Given the description of an element on the screen output the (x, y) to click on. 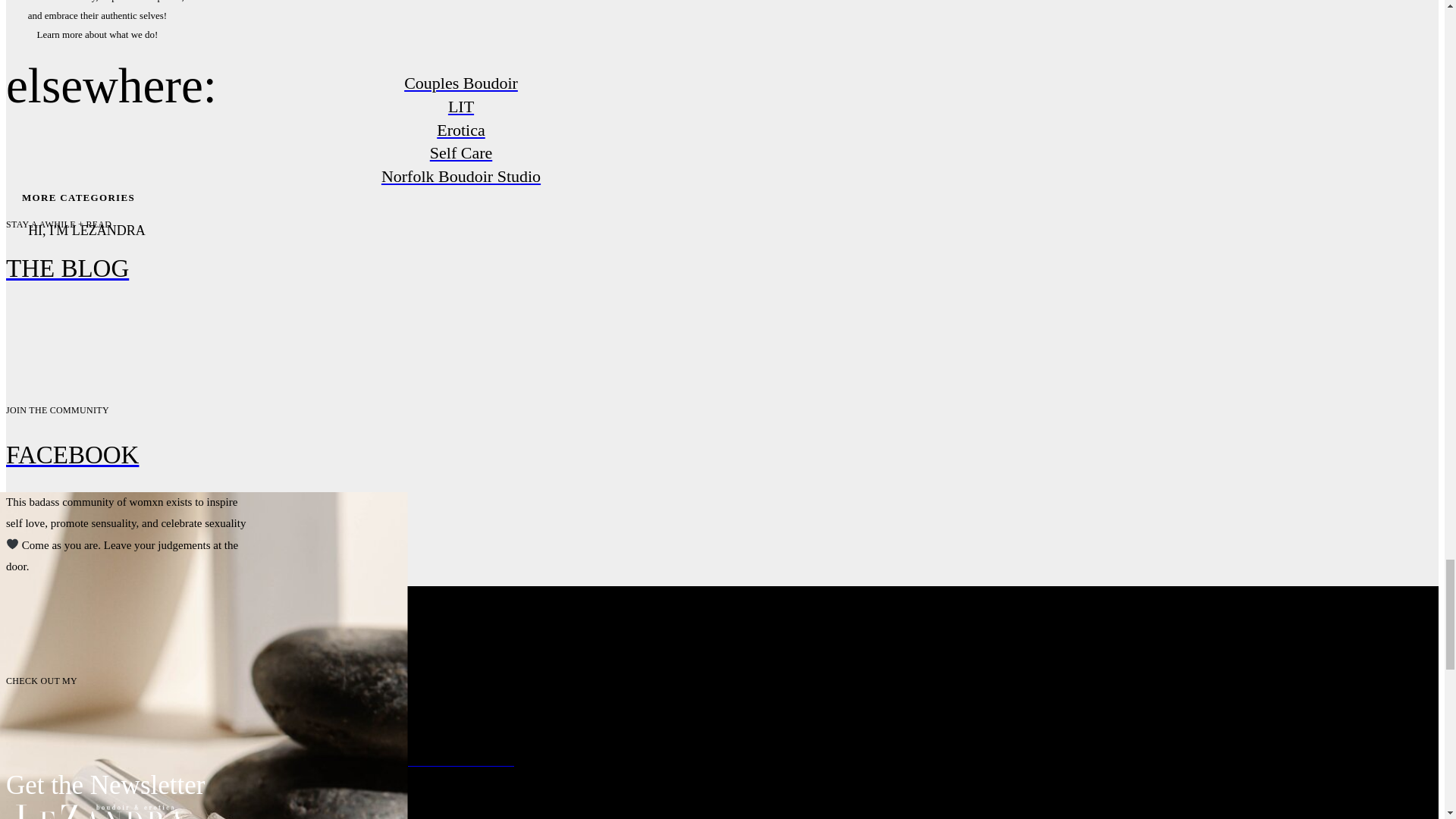
Erotica (460, 130)
Self Care (460, 153)
Couples Boudoir (460, 83)
LIT (460, 106)
Norfolk Boudoir Studio (460, 177)
